Given the description of an element on the screen output the (x, y) to click on. 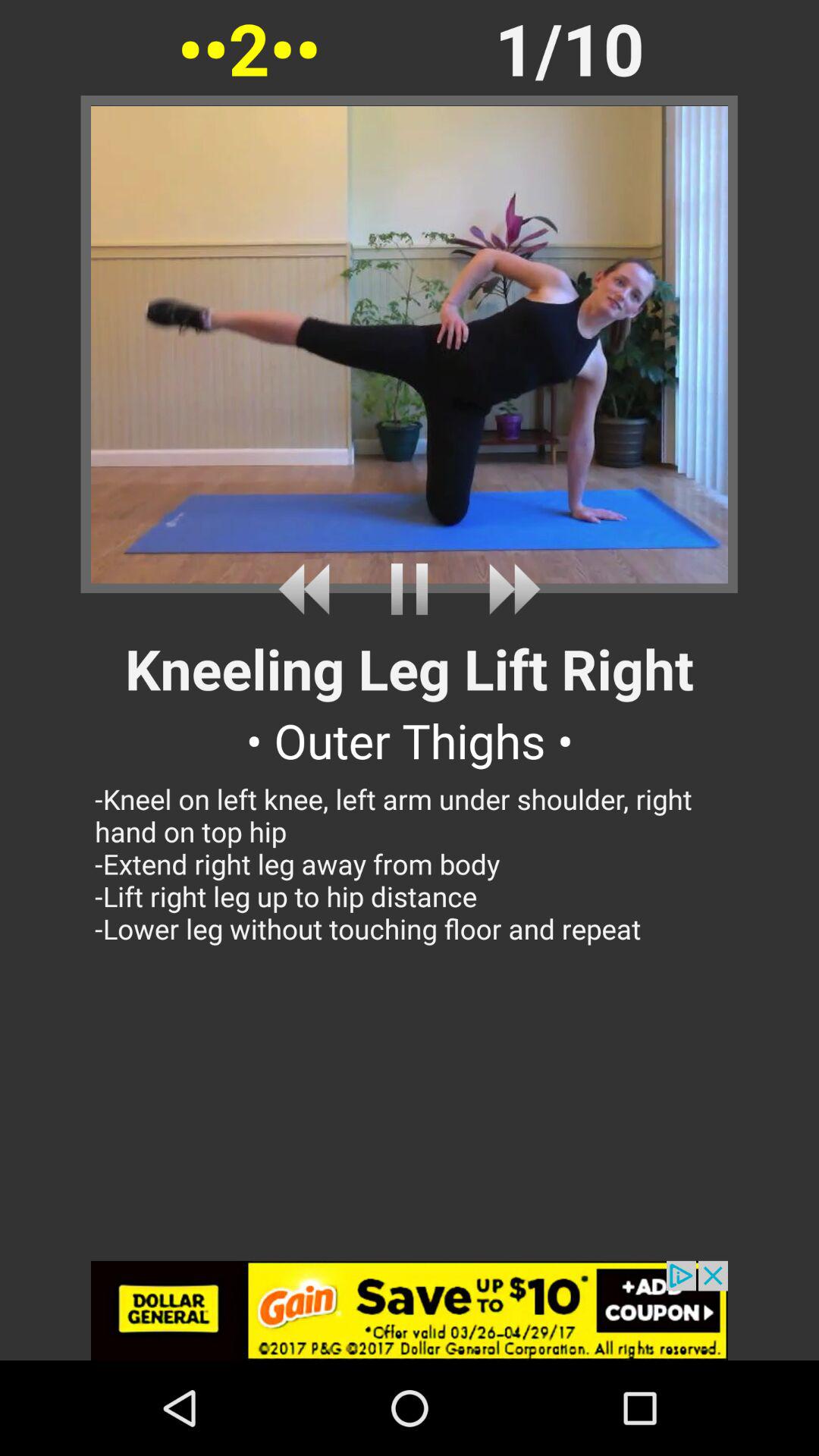
save money with a gain coupon (409, 1310)
